Given the description of an element on the screen output the (x, y) to click on. 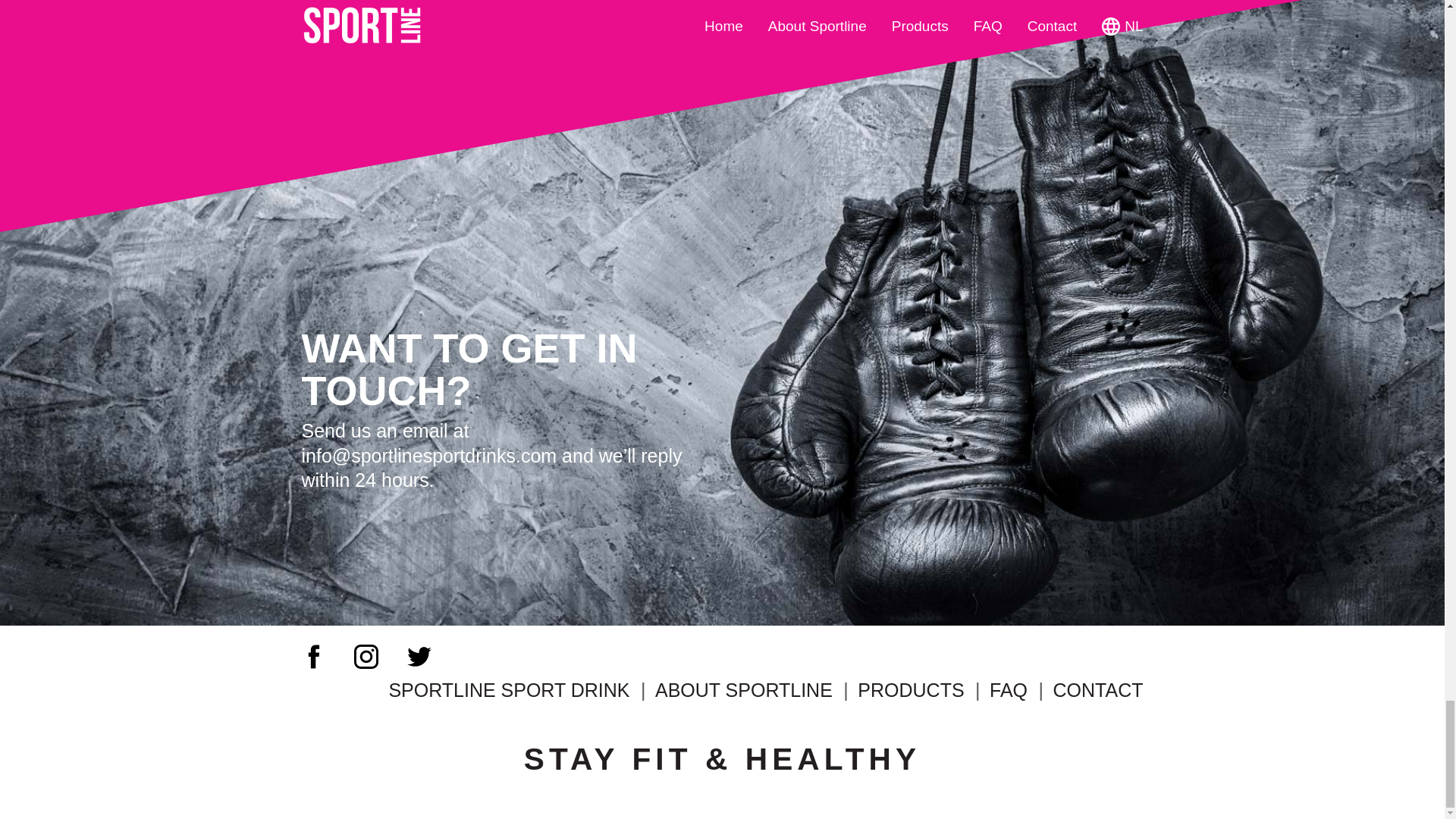
Instagram (365, 656)
ABOUT SPORTLINE (743, 690)
SPORTLINE SPORT DRINK (508, 690)
Facebook (313, 656)
FAQ (1008, 690)
PRODUCTS (910, 690)
CONTACT (1097, 690)
Twitter (418, 656)
